Given the description of an element on the screen output the (x, y) to click on. 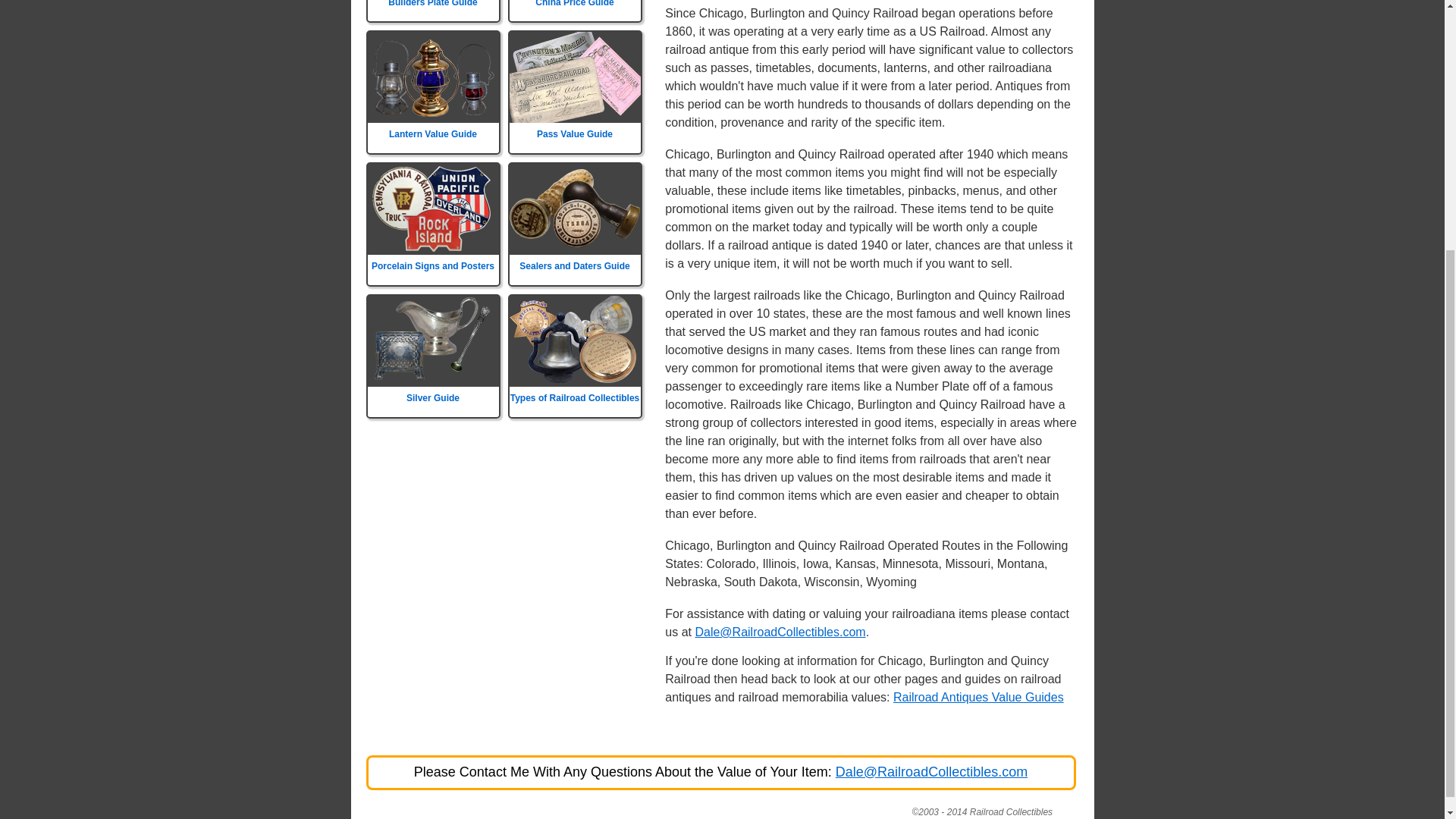
Railroad Antiques Value Guides (978, 697)
